Given the description of an element on the screen output the (x, y) to click on. 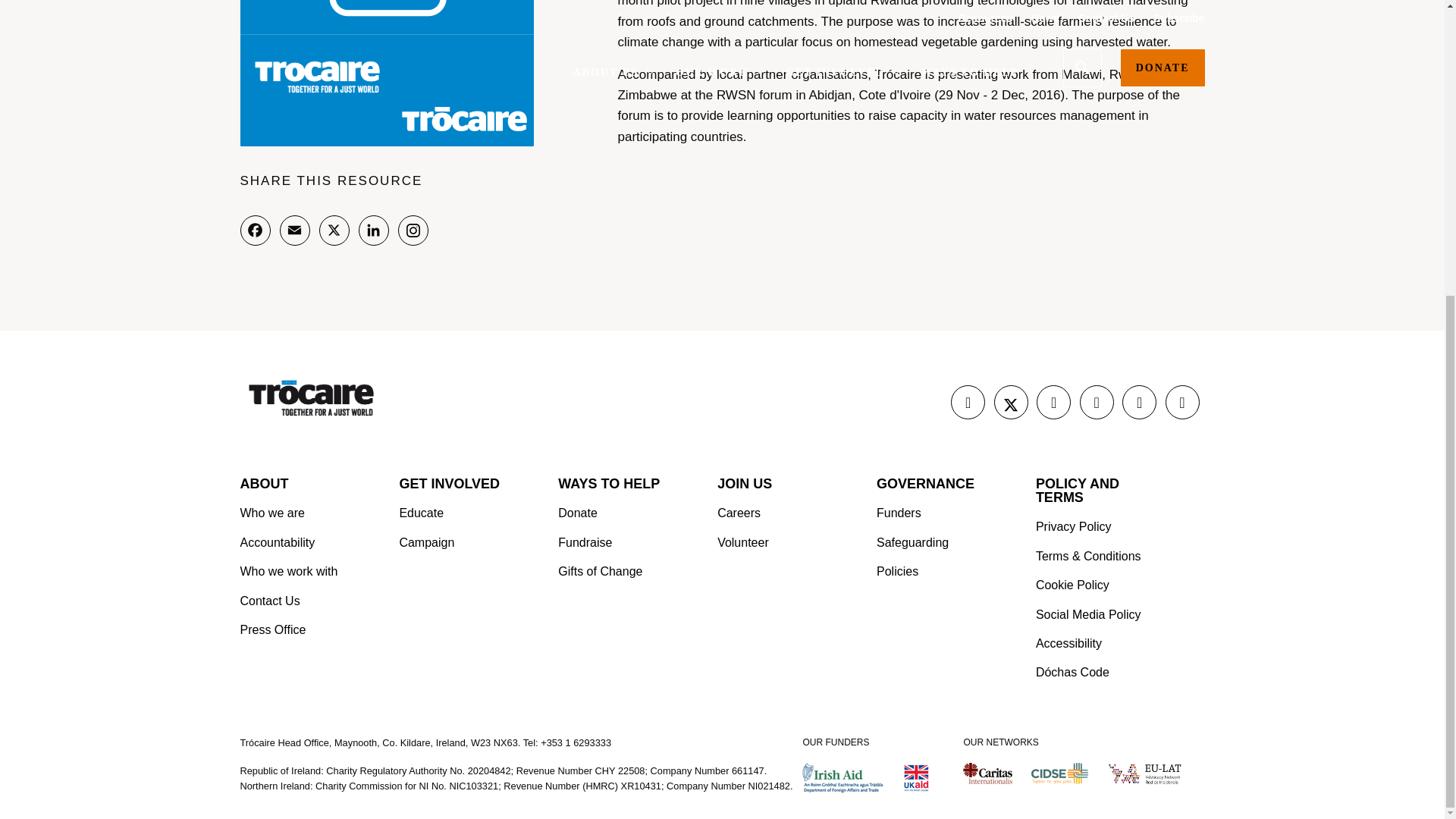
Email (293, 230)
Facebook (254, 230)
Instagram (412, 230)
LinkedIn (373, 230)
X (333, 230)
